Given the description of an element on the screen output the (x, y) to click on. 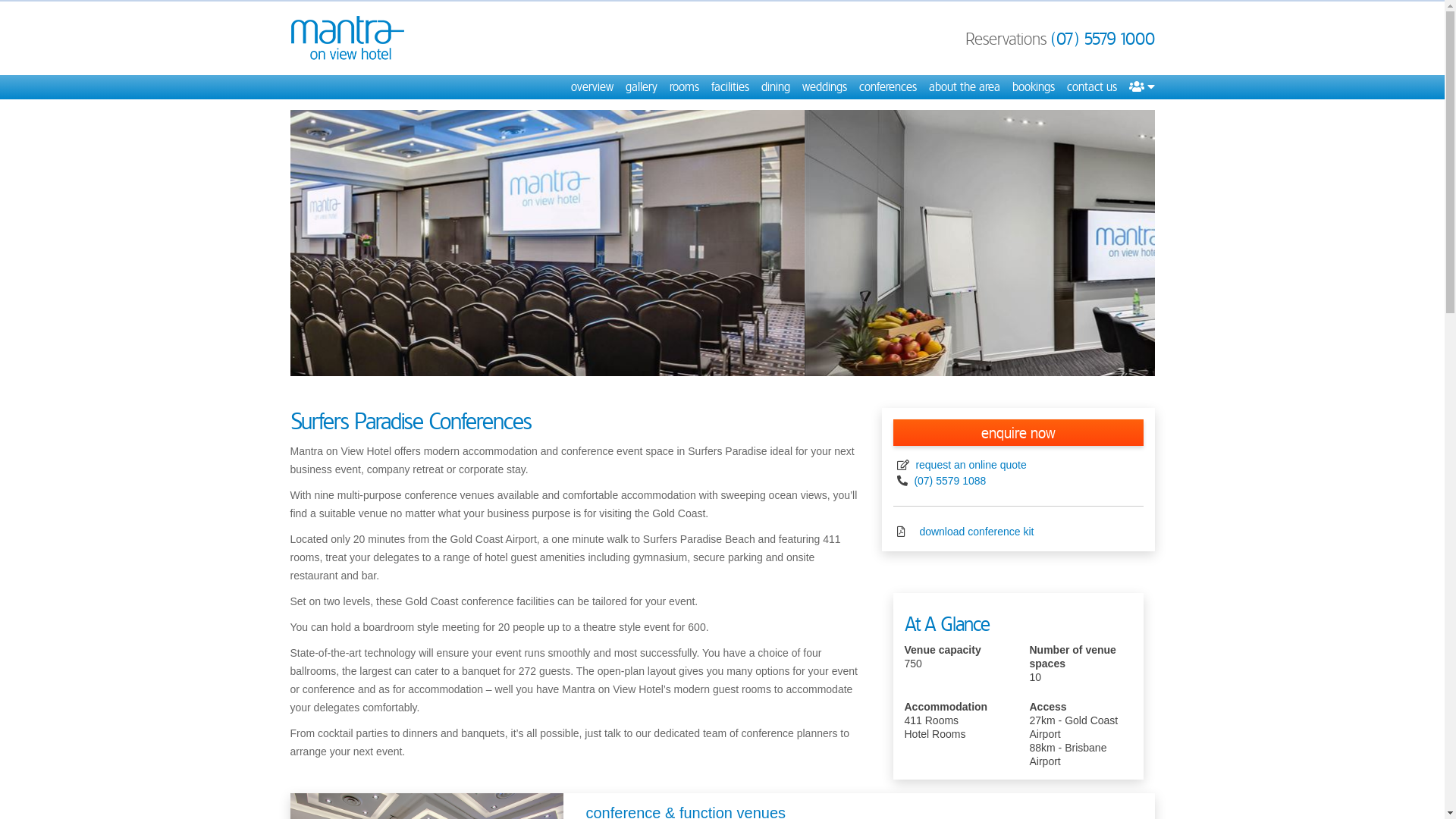
Conference Boulevard Room - Mantra on View Hotel Element type: hover (721, 242)
overview Element type: text (591, 87)
gallery Element type: text (640, 87)
facilities Element type: text (730, 87)
(07) 5579 1088 Element type: text (948, 480)
(07) 5579 1000 Element type: text (1102, 38)
Mantra on View Element type: hover (346, 37)
weddings Element type: text (824, 87)
request an online quote Element type: text (969, 464)
dining Element type: text (775, 87)
rooms Element type: text (683, 87)
conferences Element type: text (887, 87)
about the area Element type: text (963, 87)
download conference kit Element type: text (974, 531)
contact us Element type: text (1091, 87)
enquire now Element type: text (1018, 432)
bookings Element type: text (1032, 87)
